Given the description of an element on the screen output the (x, y) to click on. 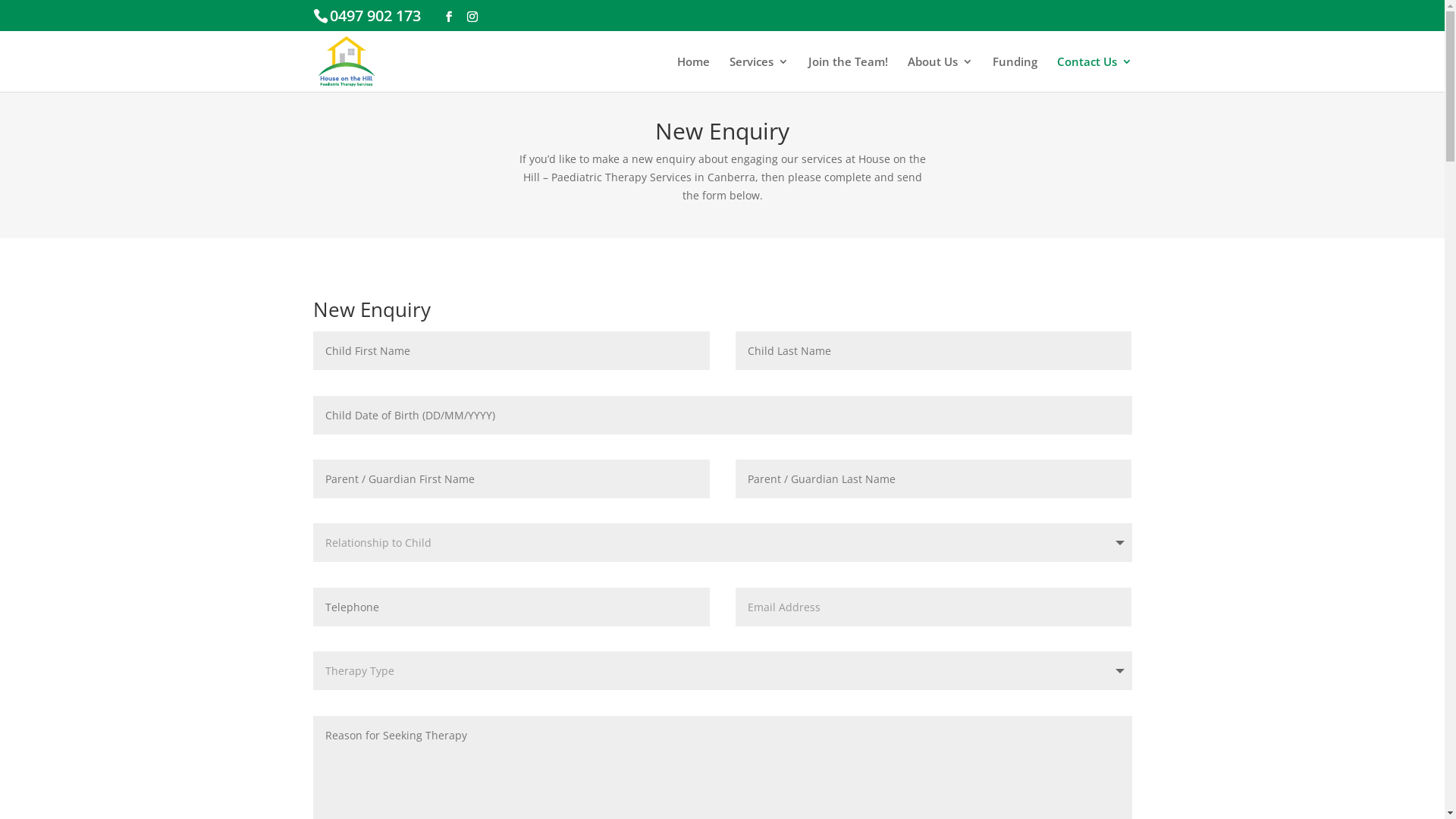
About Us Element type: text (939, 73)
Funding Element type: text (1013, 73)
Join the Team! Element type: text (848, 73)
Home Element type: text (692, 73)
Services Element type: text (758, 73)
Contact Us Element type: text (1094, 73)
0497 902 173 Element type: text (374, 15)
